Given the description of an element on the screen output the (x, y) to click on. 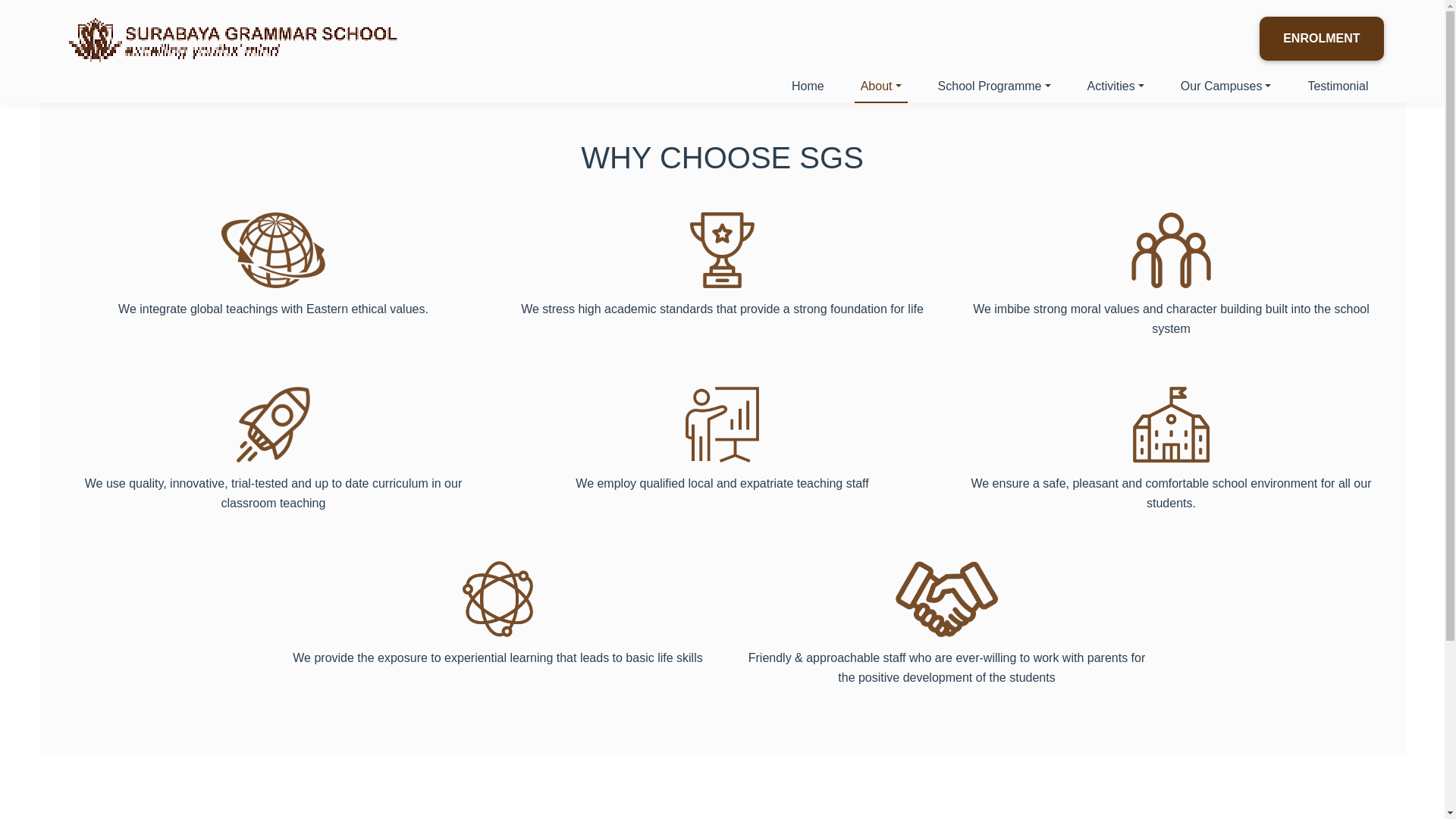
Our Campuses (1226, 86)
Activities (1115, 86)
School Programme (994, 86)
Home (807, 86)
ENROLMENT (1321, 38)
About (880, 87)
Testimonial (1337, 86)
